Given the description of an element on the screen output the (x, y) to click on. 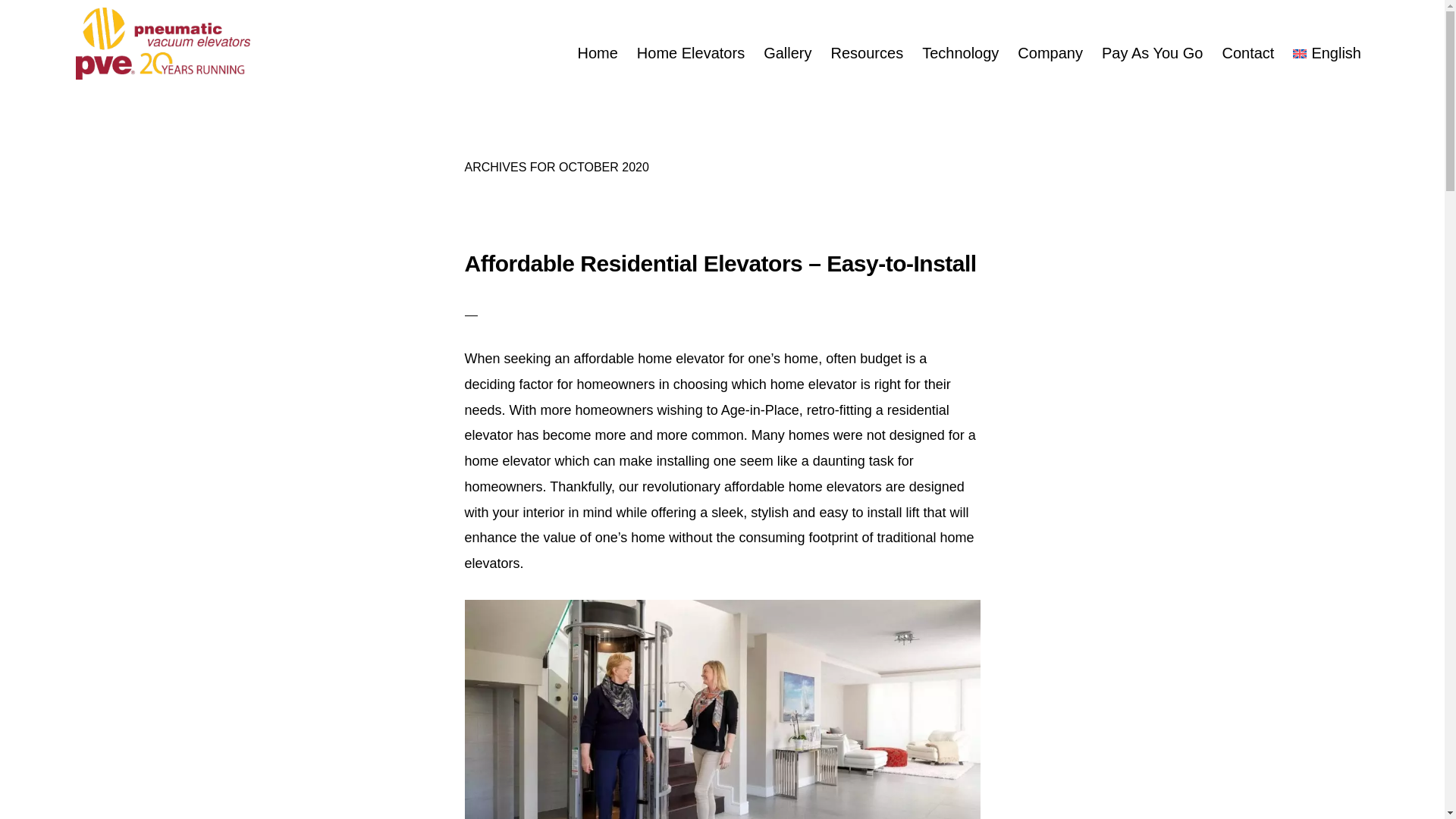
Home Elevators (690, 53)
Technology (960, 53)
Contact (1247, 53)
Home (596, 53)
Pay As You Go (1151, 53)
Resources (867, 53)
Company (1050, 53)
affordable home elevator (721, 709)
Gallery (786, 53)
